Given the description of an element on the screen output the (x, y) to click on. 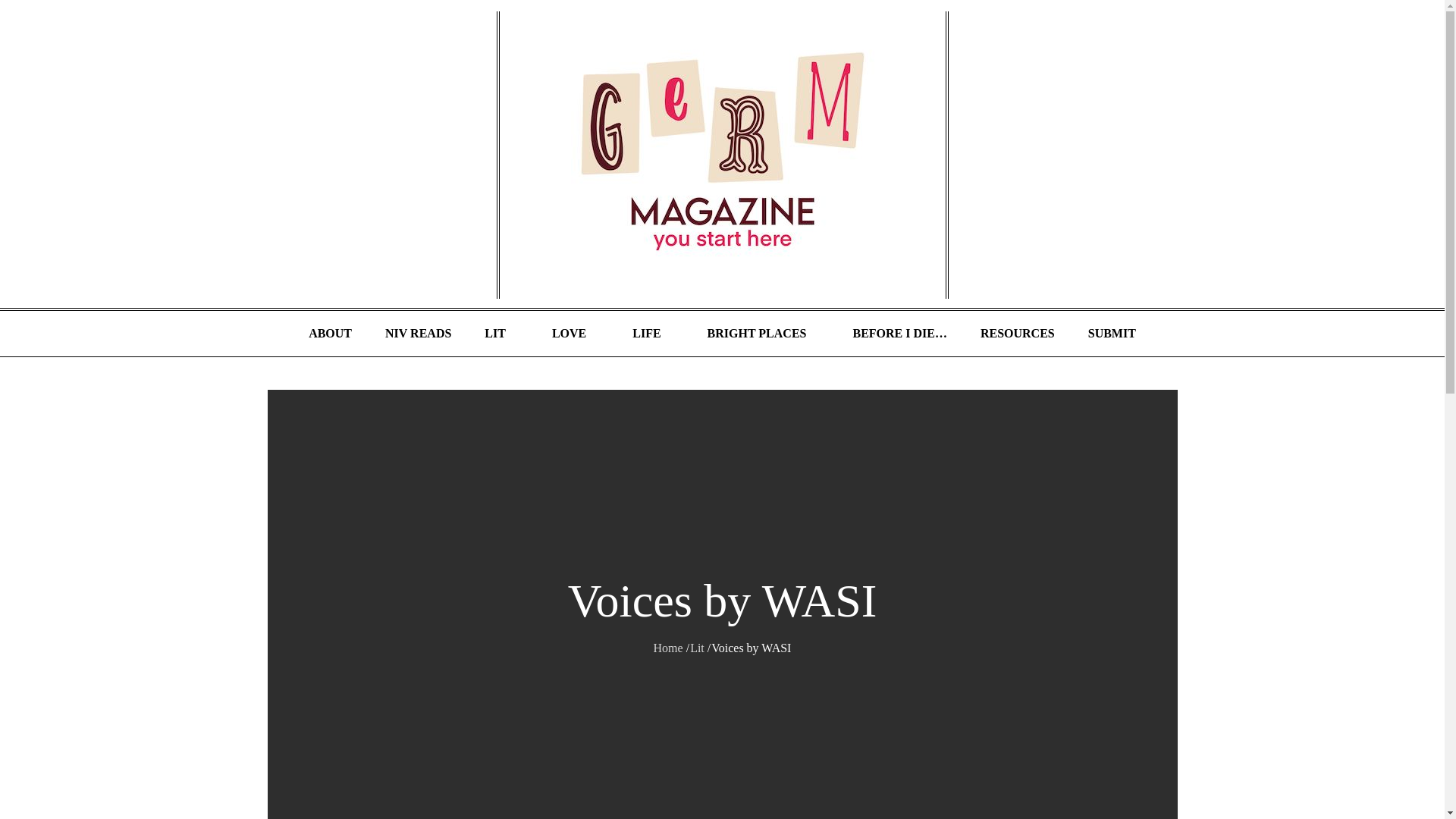
LIT (501, 333)
BRIGHT PLACES (763, 333)
LOVE (575, 333)
NIV READS (417, 333)
LIFE (652, 333)
ABOUT (330, 333)
